Given the description of an element on the screen output the (x, y) to click on. 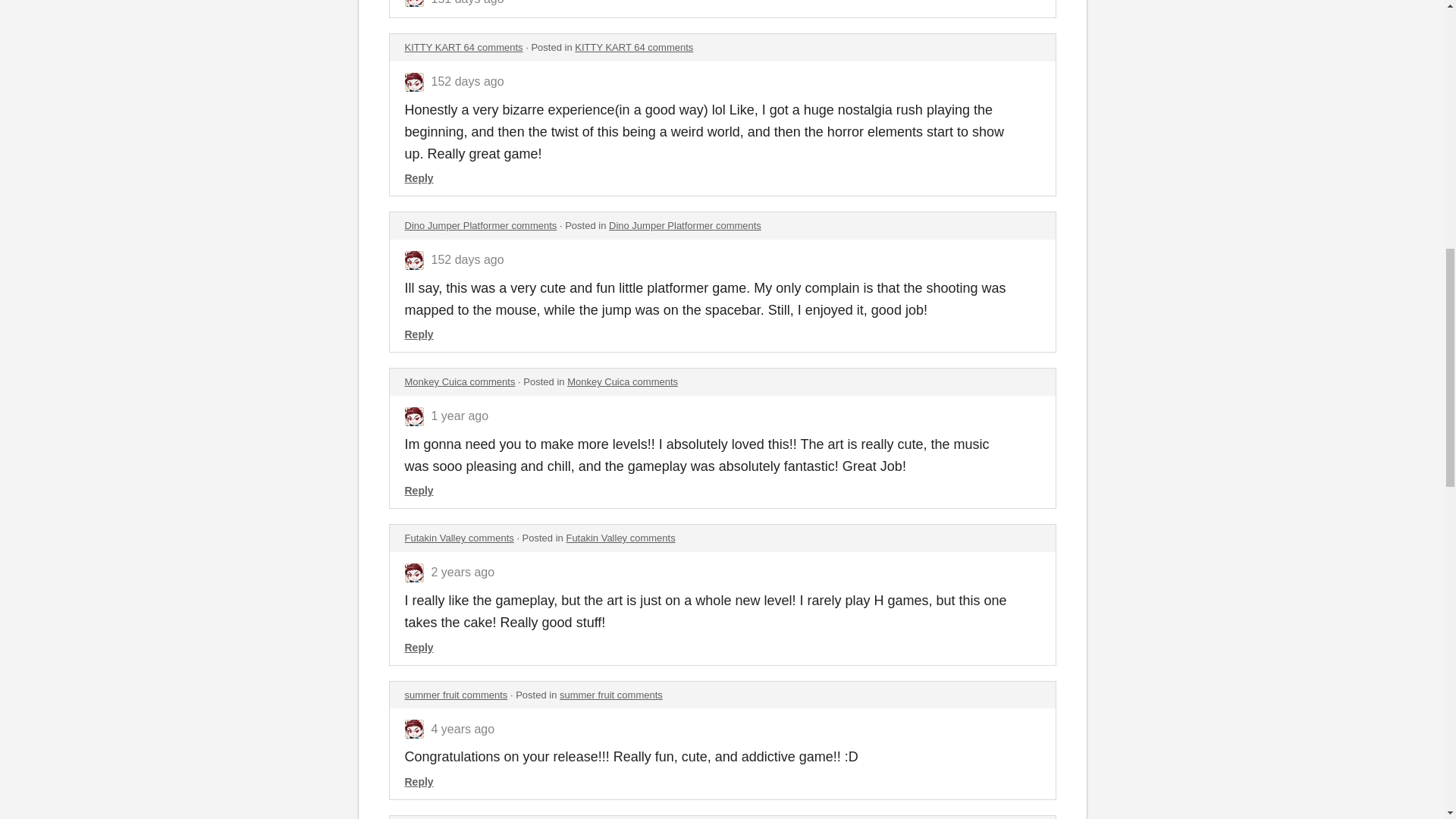
2024-04-03 21:23:04 (466, 81)
2020-04-24 01:40:25 (462, 728)
2024-04-03 20:33:12 (466, 259)
2022-09-02 06:58:27 (462, 571)
2023-07-11 16:31:24 (458, 415)
